Given the description of an element on the screen output the (x, y) to click on. 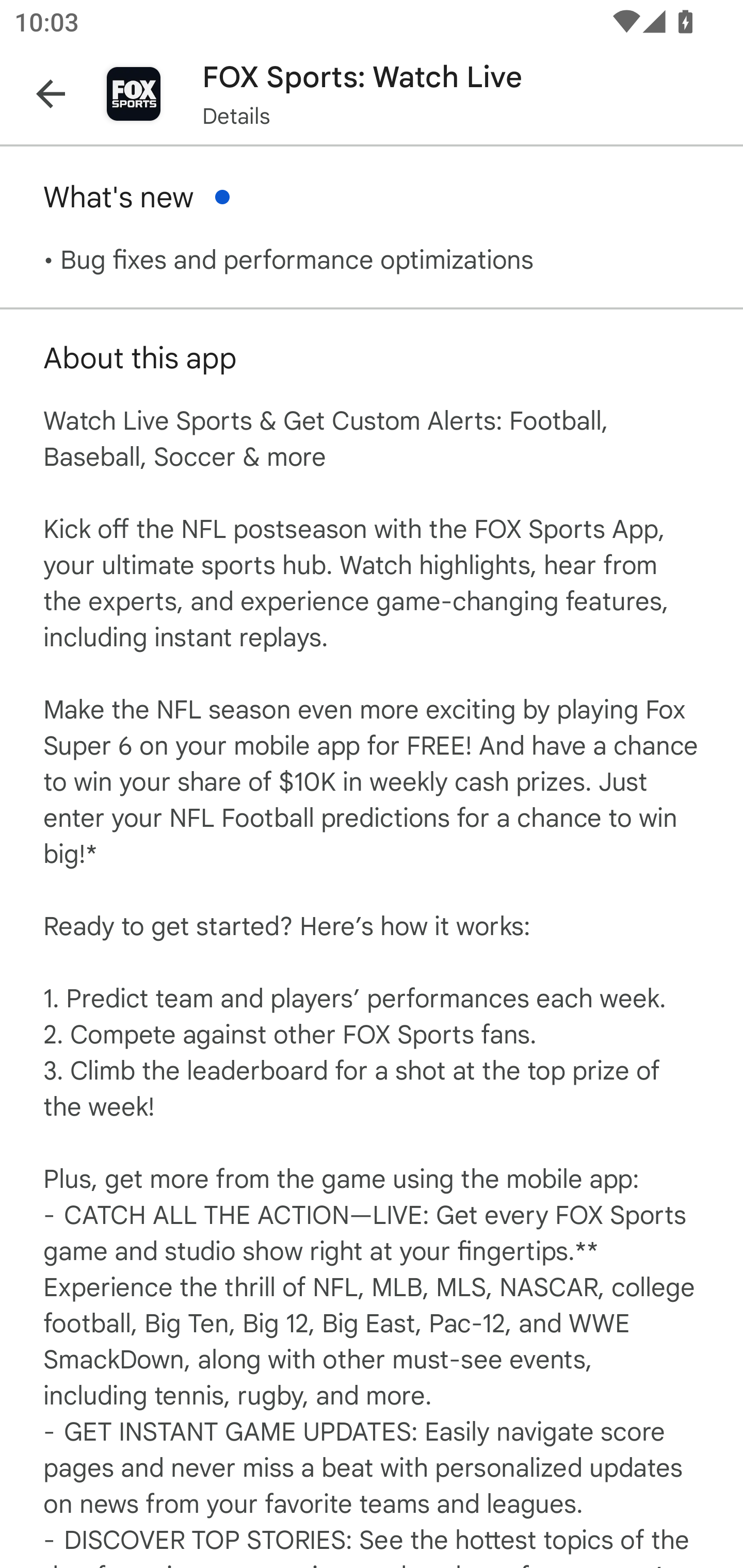
Navigate up (50, 93)
